Given the description of an element on the screen output the (x, y) to click on. 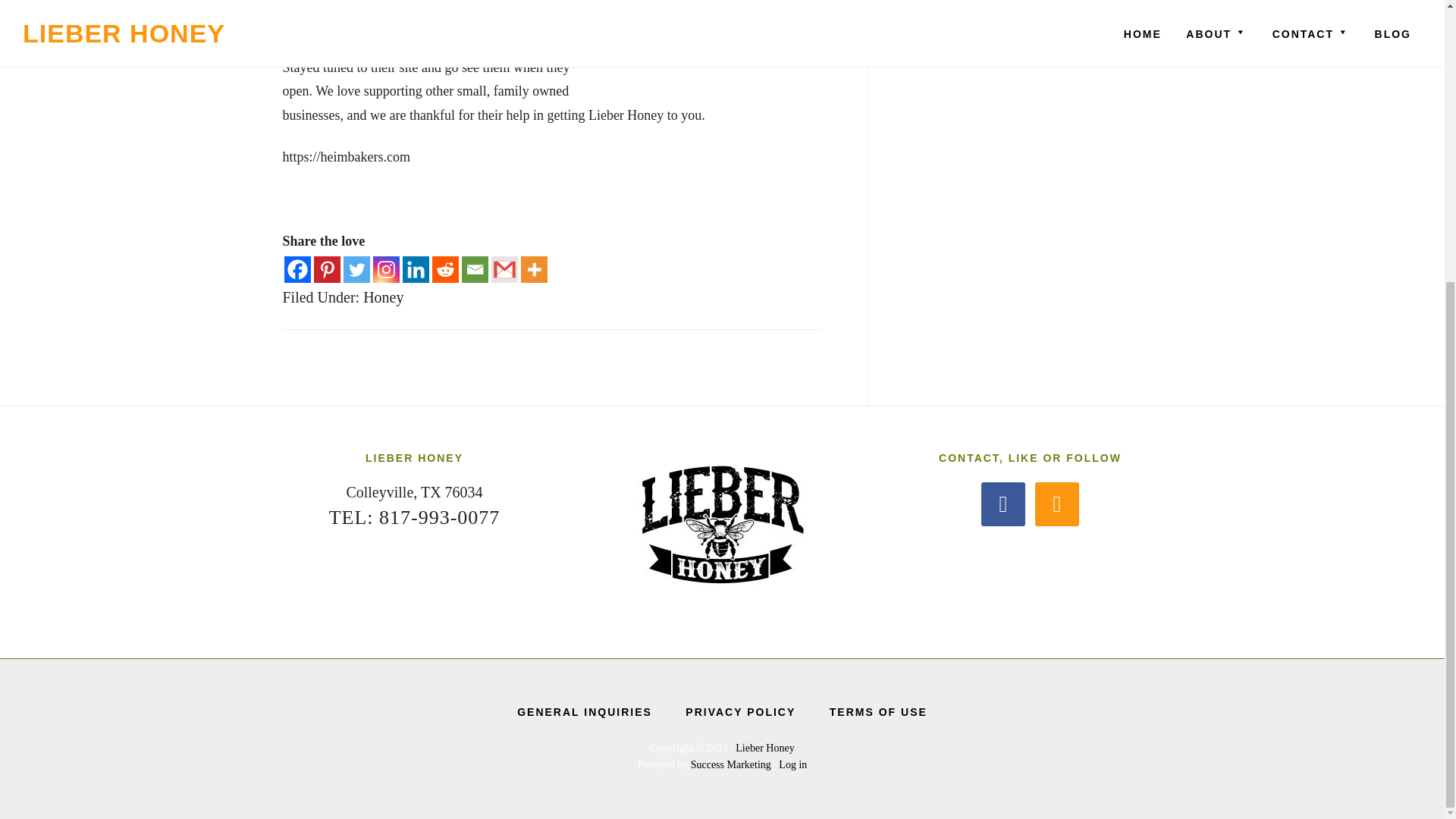
mail (1056, 502)
facebook (1003, 502)
Twitter (355, 269)
Success Marketing (730, 764)
Instagram (385, 269)
Google Gmail (505, 269)
Friend me on Facebook (1003, 502)
Follow Me (1056, 502)
More (533, 269)
PRIVACY POLICY (739, 715)
